Given the description of an element on the screen output the (x, y) to click on. 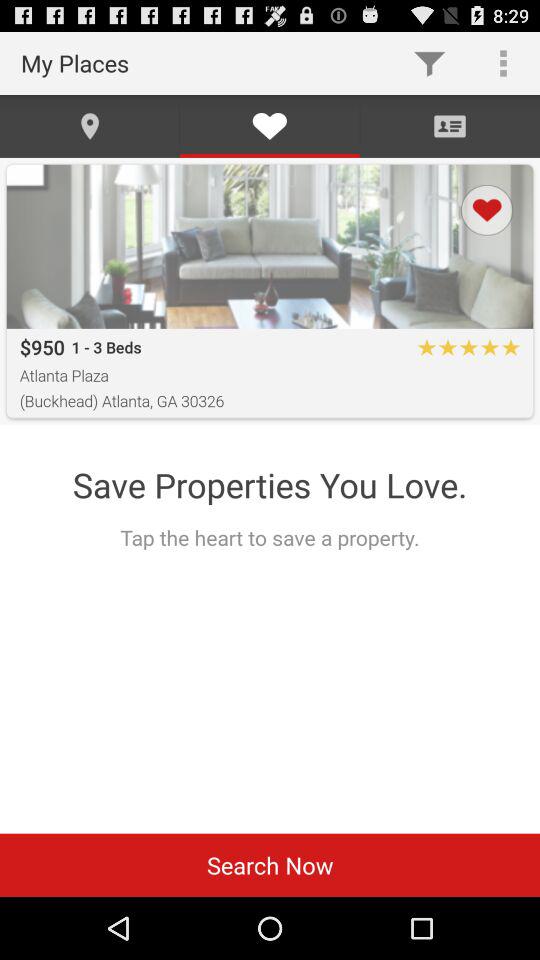
jump to search now item (270, 864)
